Given the description of an element on the screen output the (x, y) to click on. 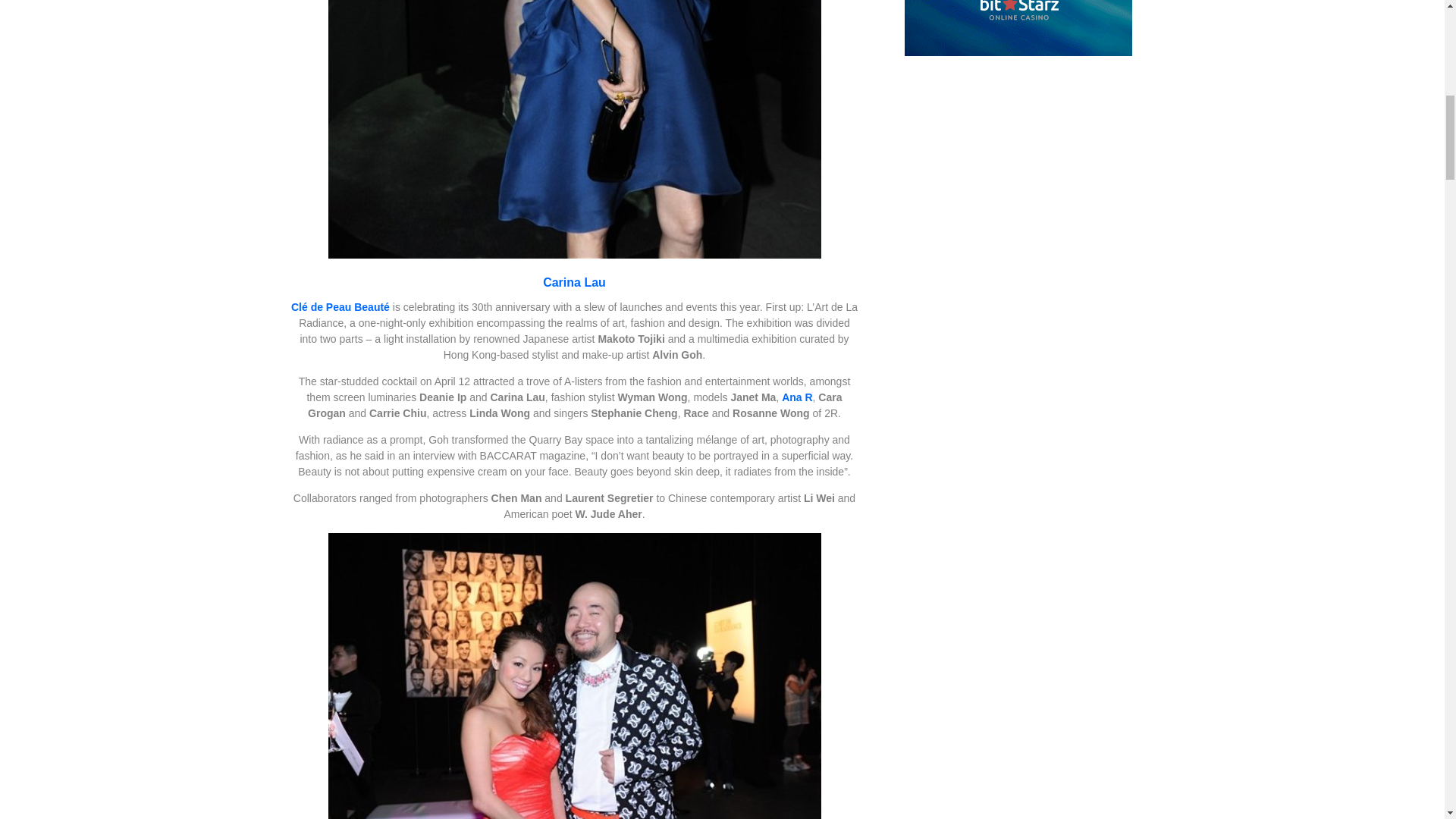
Ana R (796, 397)
Carina Lau (574, 282)
